Given the description of an element on the screen output the (x, y) to click on. 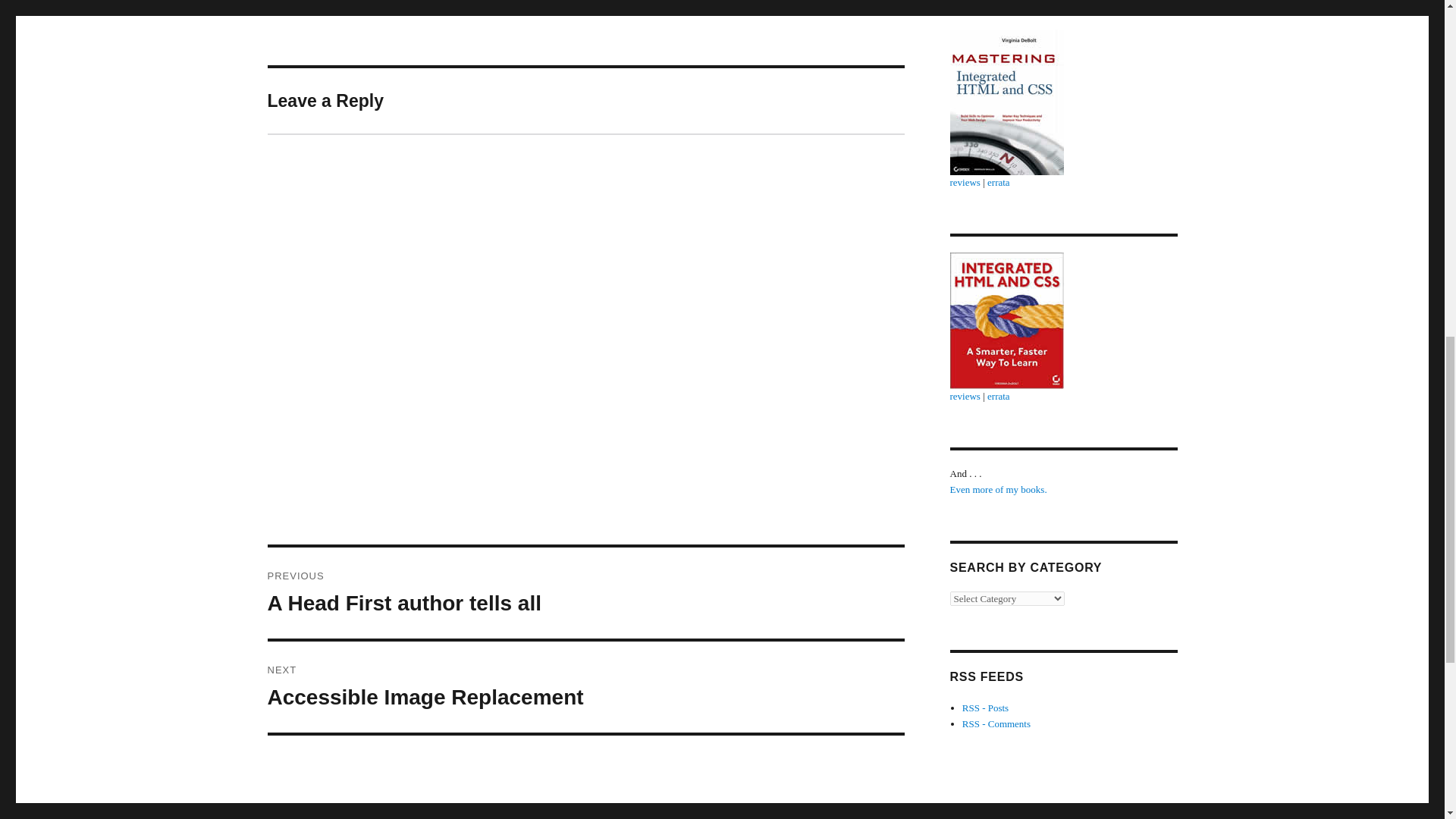
RSS - Comments (996, 723)
reviews (585, 592)
errata (964, 396)
RSS - Posts (998, 396)
Subscribe to comments (985, 707)
Comment Form (996, 723)
errata (997, 489)
